Given the description of an element on the screen output the (x, y) to click on. 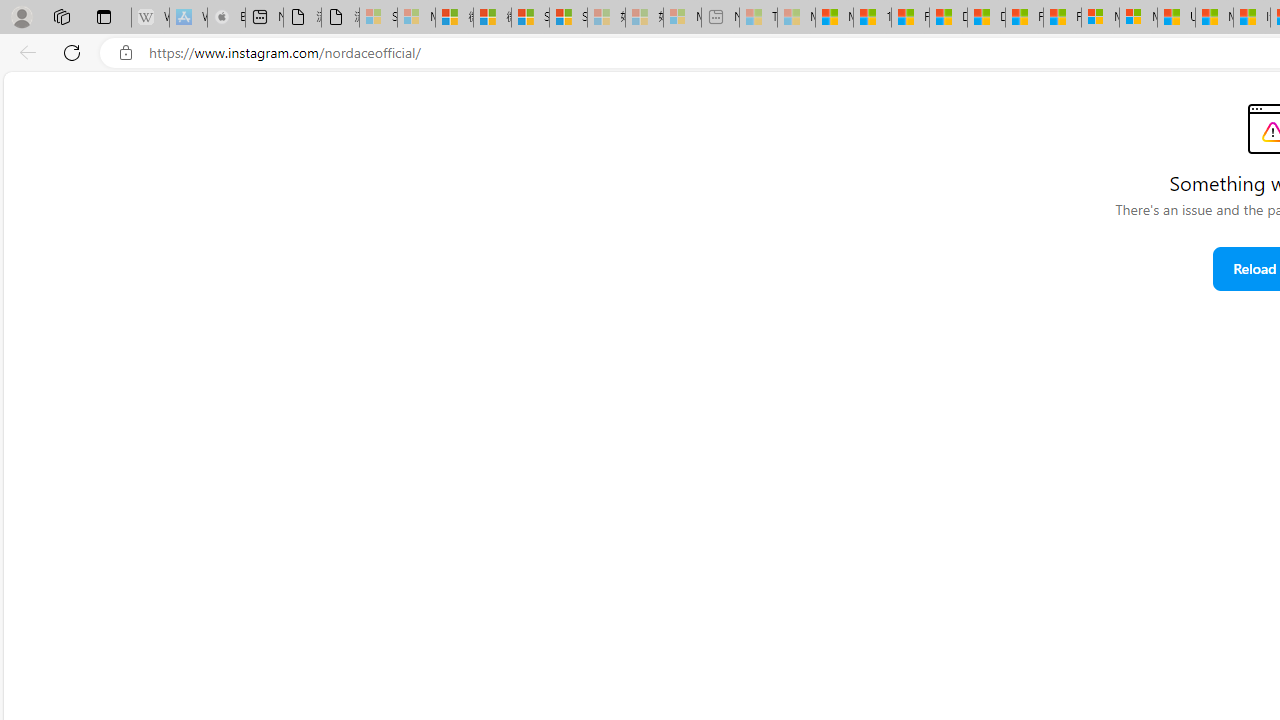
Microsoft Services Agreement - Sleeping (416, 17)
Marine life - MSN - Sleeping (796, 17)
Foo BAR | Trusted Community Engagement and Contributions (1062, 17)
Drinking tea every day is proven to delay biological aging (985, 17)
Top Stories - MSN - Sleeping (757, 17)
Microsoft account | Account Checkup - Sleeping (682, 17)
